Given the description of an element on the screen output the (x, y) to click on. 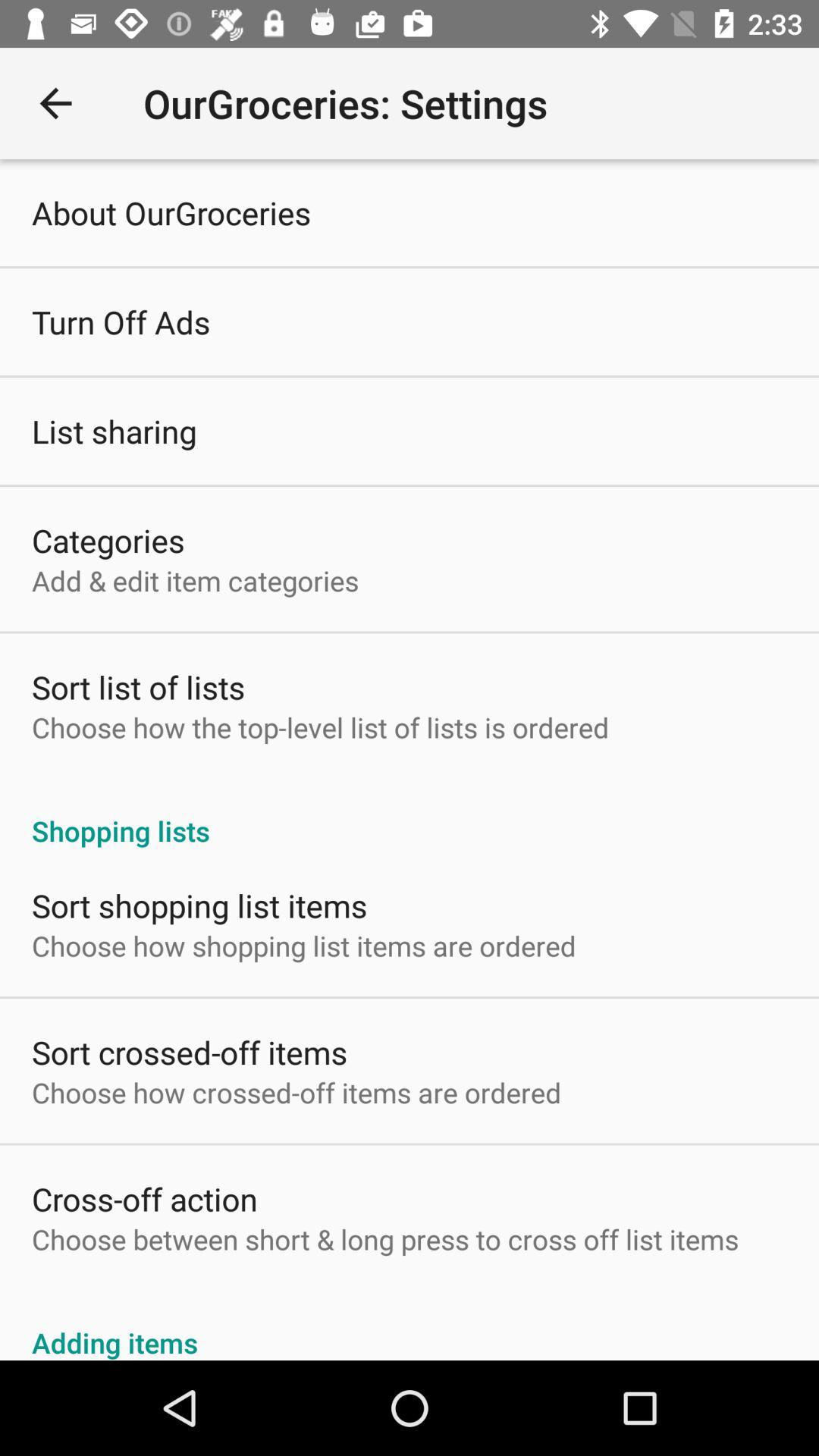
launch icon next to ourgroceries: settings (55, 103)
